Given the description of an element on the screen output the (x, y) to click on. 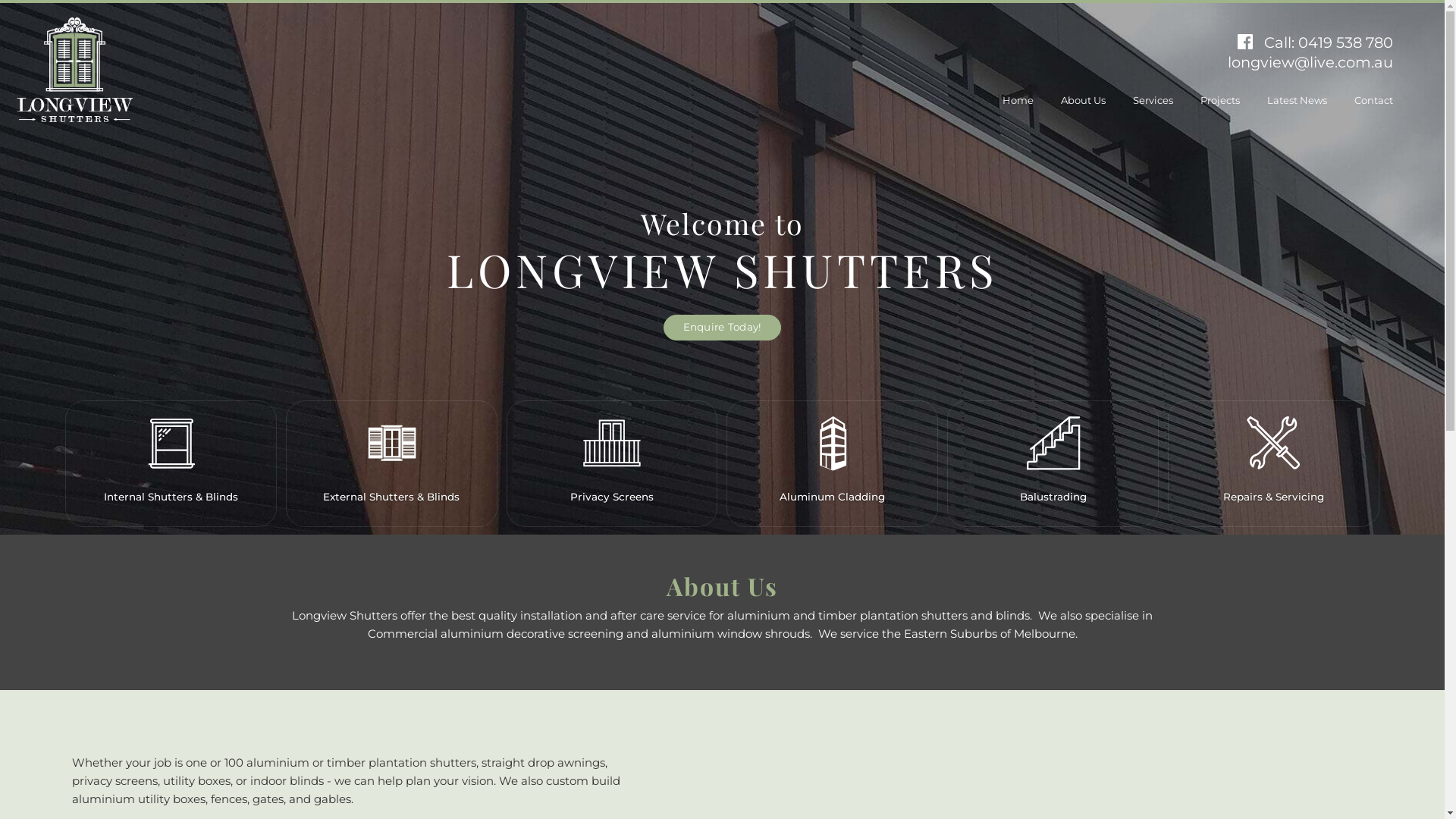
Home Element type: text (1017, 99)
Privacy Screens Element type: text (611, 460)
Repairs & Servicing Element type: text (1273, 460)
Internal Shutters & Blinds Element type: text (170, 460)
Enquire Today! Element type: text (722, 327)
Balustrading Element type: text (1053, 460)
Main menu Element type: text (75, 71)
Services Element type: text (1152, 99)
Aluminum Cladding Element type: text (832, 460)
Projects Element type: text (1219, 99)
Call: 0419 538 780 Element type: text (1328, 42)
About Us Element type: text (1083, 99)
Contact Element type: text (1373, 99)
External Shutters & Blinds Element type: text (390, 460)
Latest News Element type: text (1296, 99)
longview@live.com.au Element type: text (1310, 62)
